Given the description of an element on the screen output the (x, y) to click on. 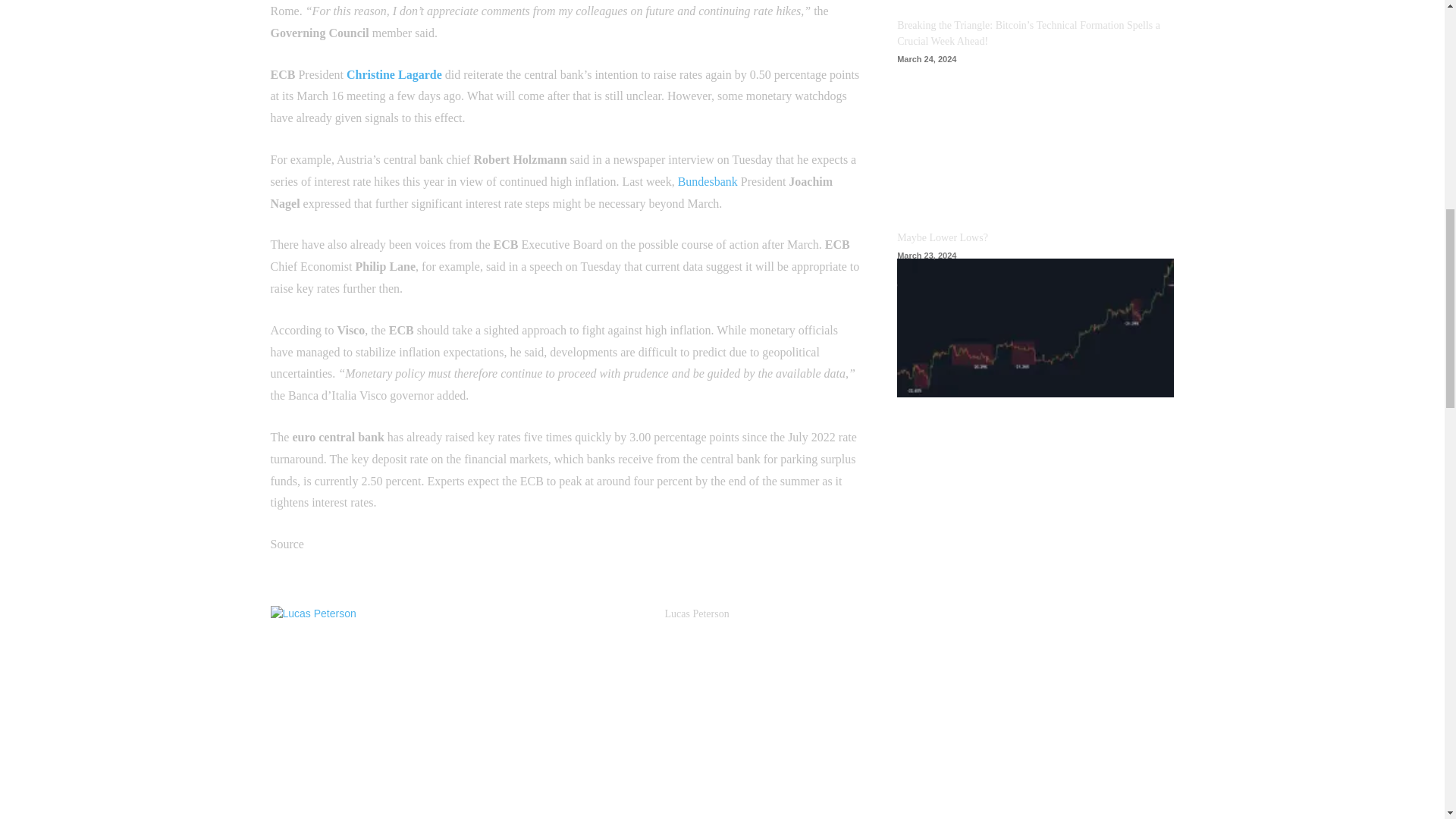
Bundesbank (708, 181)
Maybe Lower Lows? (1034, 327)
Lucas Peterson (459, 712)
Lucas Peterson (696, 613)
Maybe Lower Lows? (942, 237)
Christine Lagarde (394, 74)
